Given the description of an element on the screen output the (x, y) to click on. 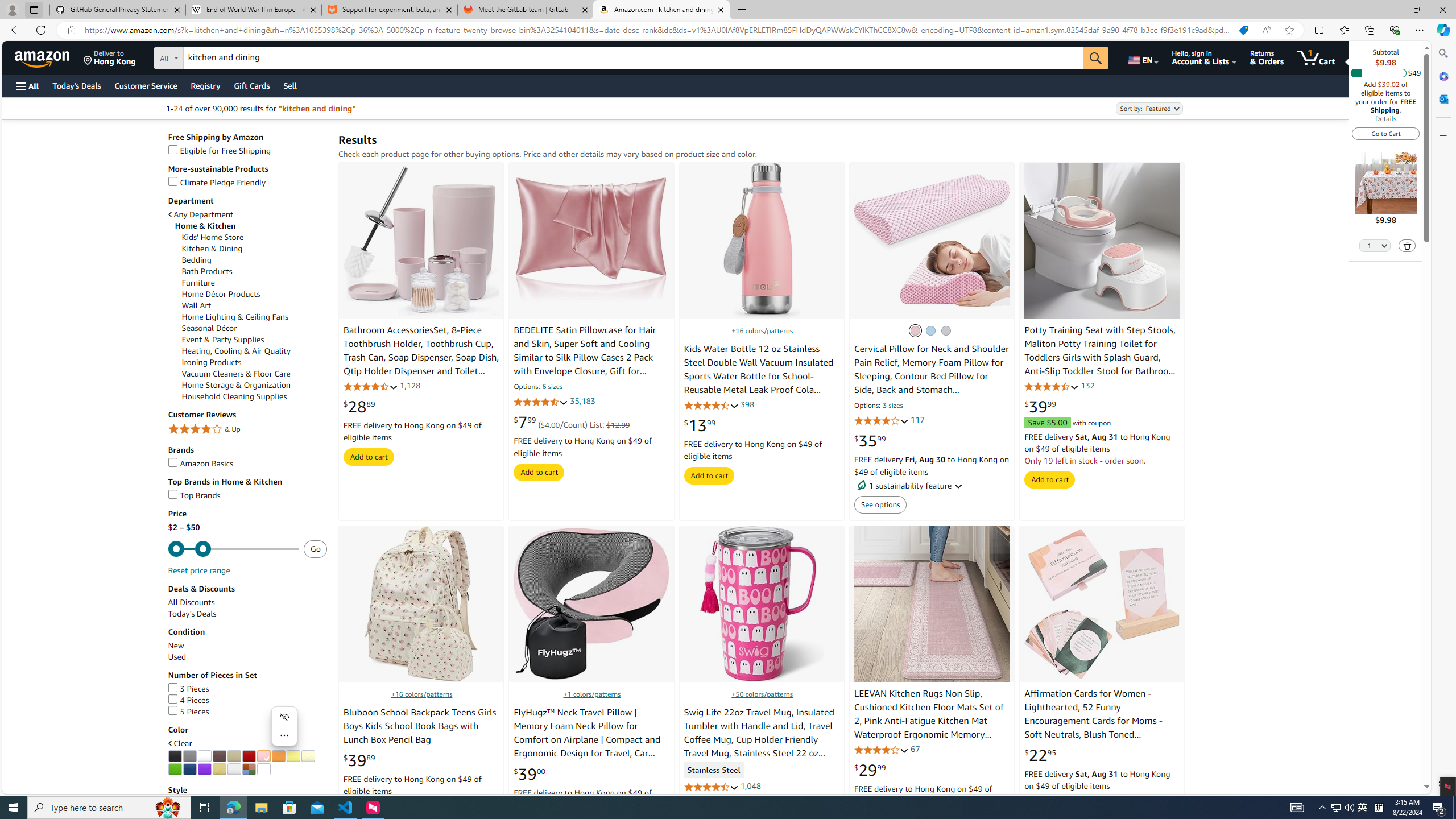
End of World War II in Europe - Wikipedia (253, 9)
Quantity Selector (1374, 245)
Bath Products (254, 271)
AutomationID: p_n_feature_twenty_browse-bin/3254102011 (234, 756)
Home Storage & Organization (254, 384)
Customize (1442, 135)
Today's Deals (191, 613)
+50 colors/patterns (761, 693)
Bath Products (207, 271)
117 (917, 420)
Amazon Basics (247, 463)
